Given the description of an element on the screen output the (x, y) to click on. 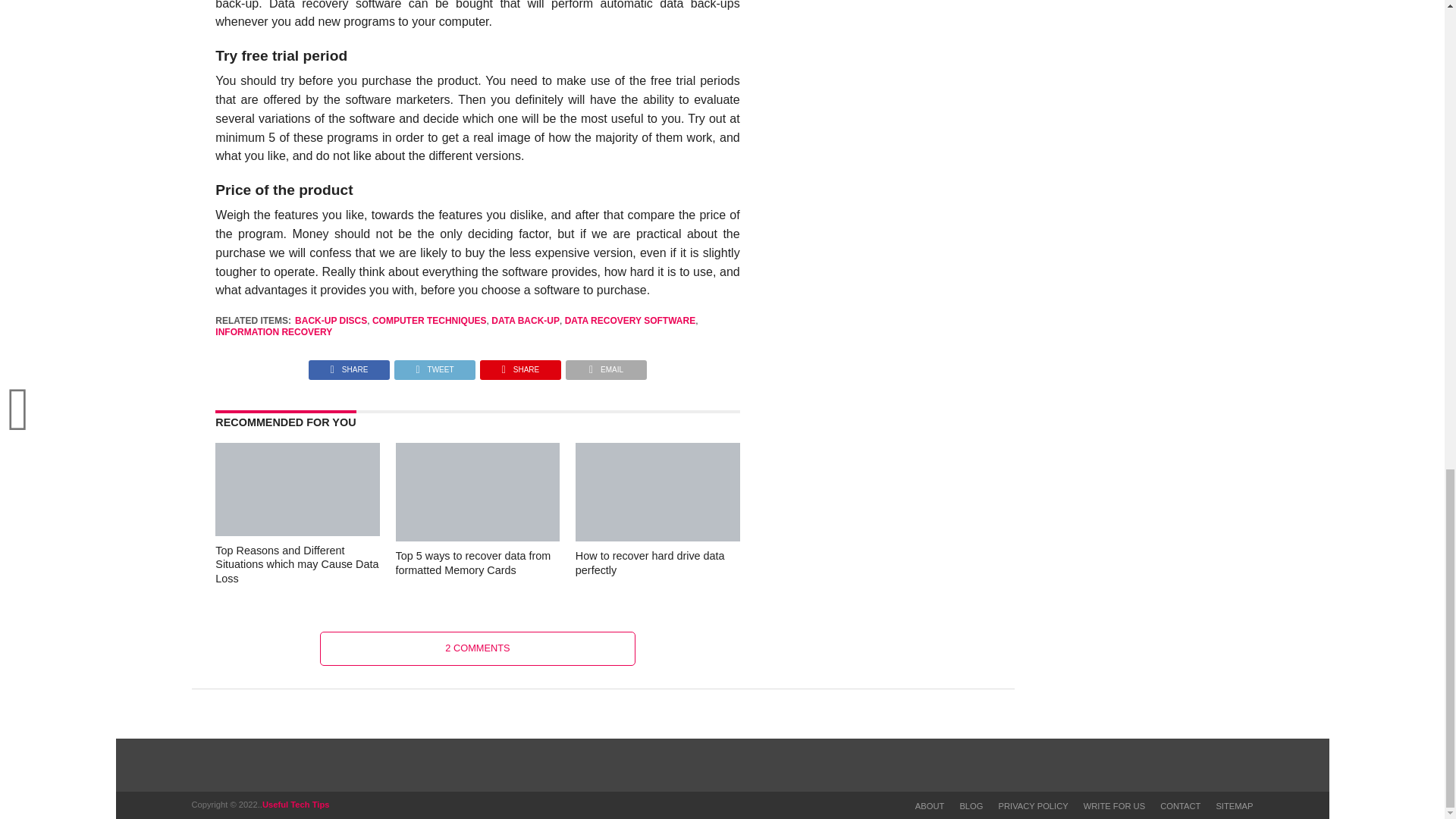
Pin This Post (520, 365)
Share on Facebook (349, 365)
Top 5 ways to recover data from formatted Memory Cards (478, 542)
How to recover hard drive data perfectly (657, 542)
Tweet This Post (434, 365)
Tech Tips (295, 804)
